Given the description of an element on the screen output the (x, y) to click on. 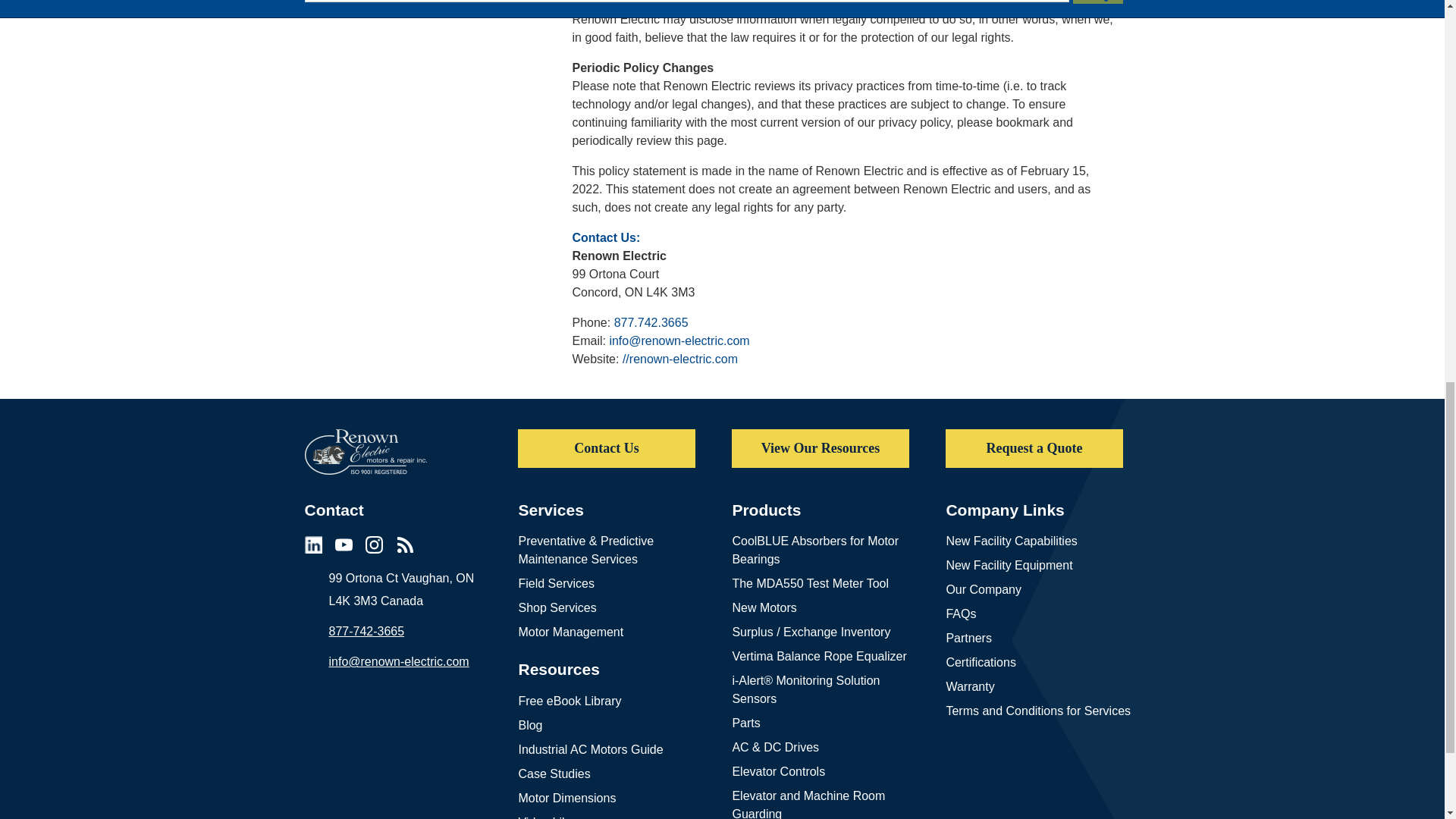
linkedin (312, 544)
Instagram (373, 544)
Youtube (343, 544)
Renown Electric (365, 452)
Blogs (404, 544)
